Given the description of an element on the screen output the (x, y) to click on. 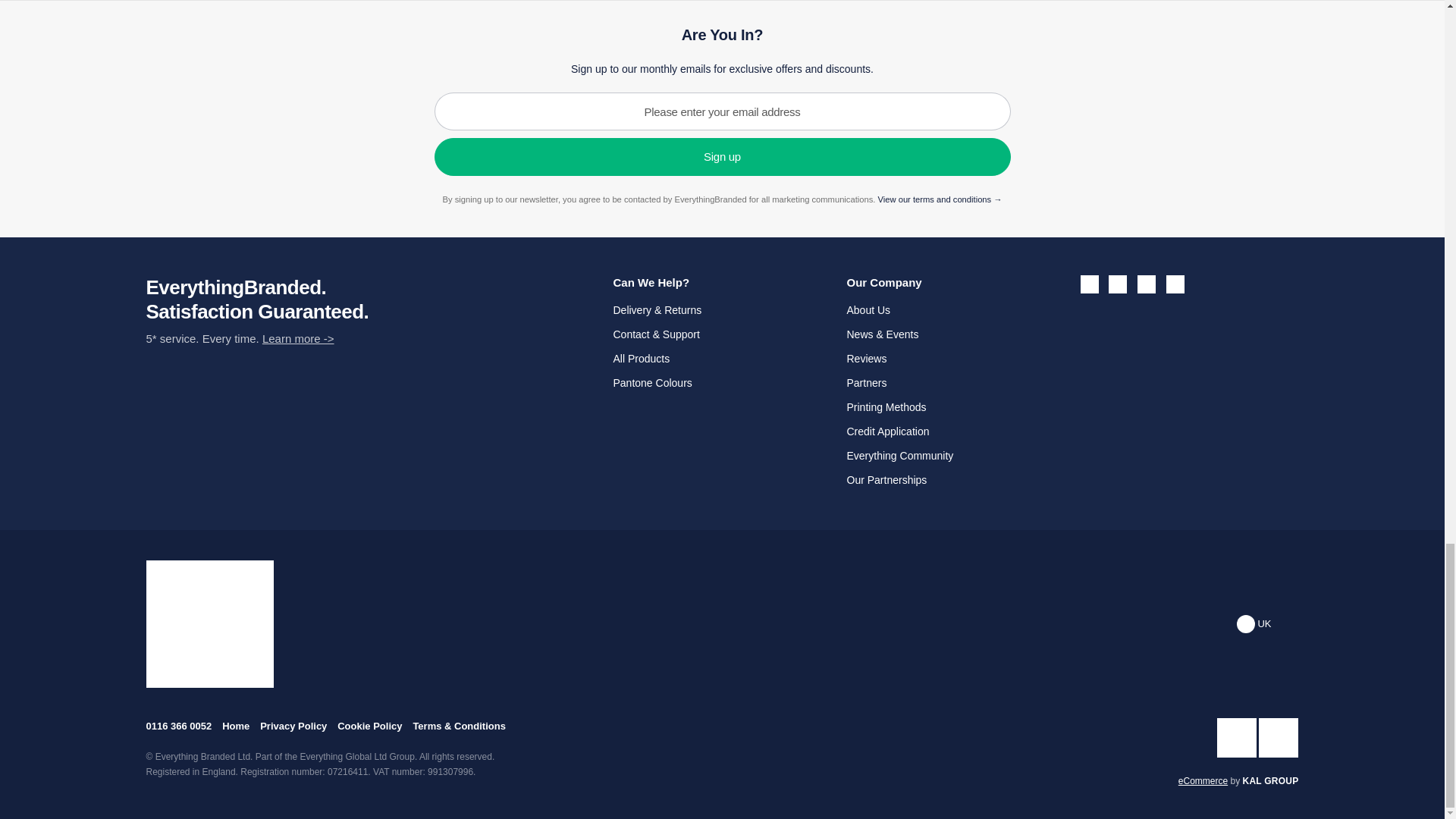
Sign up (721, 157)
